Given the description of an element on the screen output the (x, y) to click on. 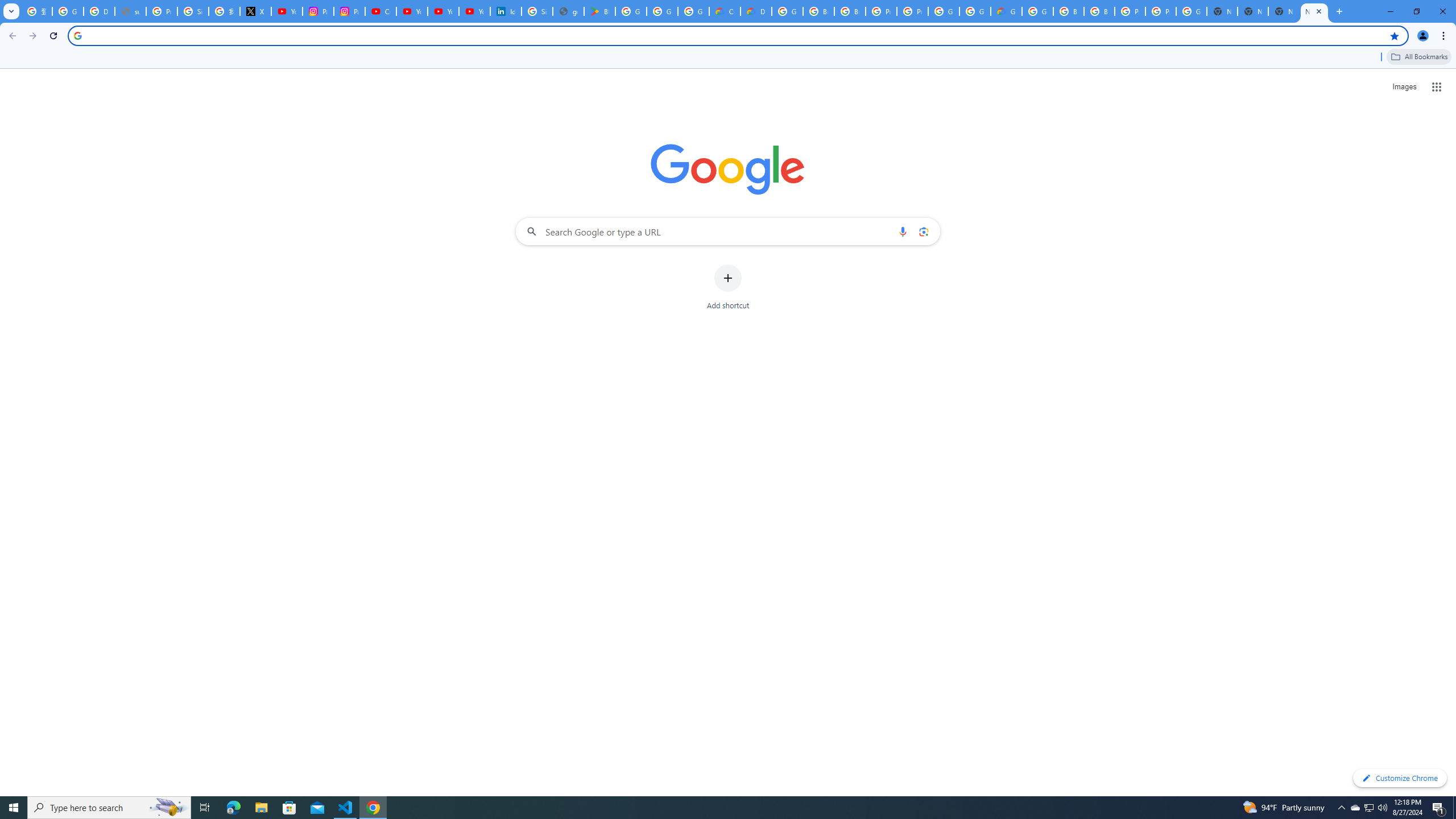
Browse Chrome as a guest - Computer - Google Chrome Help (1068, 11)
Google Cloud Estimate Summary (1005, 11)
Google Cloud Platform (1190, 11)
Google Workspace - Specific Terms (662, 11)
New Tab (1252, 11)
